Given the description of an element on the screen output the (x, y) to click on. 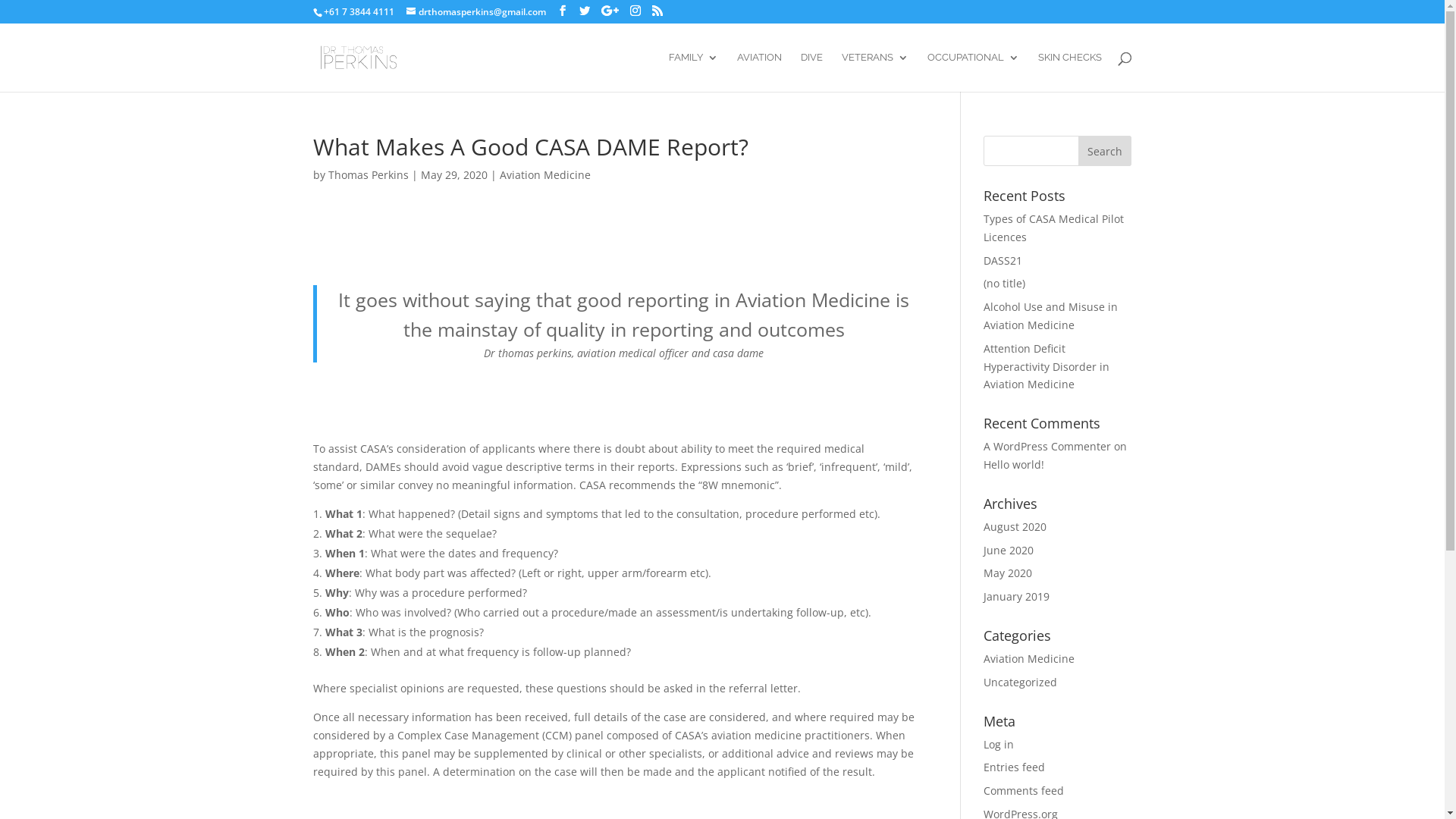
(no title) Element type: text (1004, 283)
June 2020 Element type: text (1008, 549)
DIVE Element type: text (811, 71)
VETERANS Element type: text (874, 71)
Types of CASA Medical Pilot Licences Element type: text (1053, 227)
August 2020 Element type: text (1014, 526)
Log in Element type: text (998, 744)
SKIN CHECKS Element type: text (1069, 71)
Aviation Medicine Element type: text (1028, 658)
Thomas Perkins Element type: text (367, 174)
Comments feed Element type: text (1023, 790)
DASS21 Element type: text (1002, 260)
Entries feed Element type: text (1013, 766)
Uncategorized Element type: text (1020, 681)
Alcohol Use and Misuse in Aviation Medicine Element type: text (1050, 315)
Hello world! Element type: text (1013, 464)
Search Element type: text (1104, 150)
drthomasperkins@gmail.com Element type: text (476, 11)
OCCUPATIONAL Element type: text (972, 71)
FAMILY Element type: text (693, 71)
January 2019 Element type: text (1016, 596)
May 2020 Element type: text (1007, 572)
AVIATION Element type: text (759, 71)
Aviation Medicine Element type: text (543, 174)
A WordPress Commenter Element type: text (1046, 446)
